Given the description of an element on the screen output the (x, y) to click on. 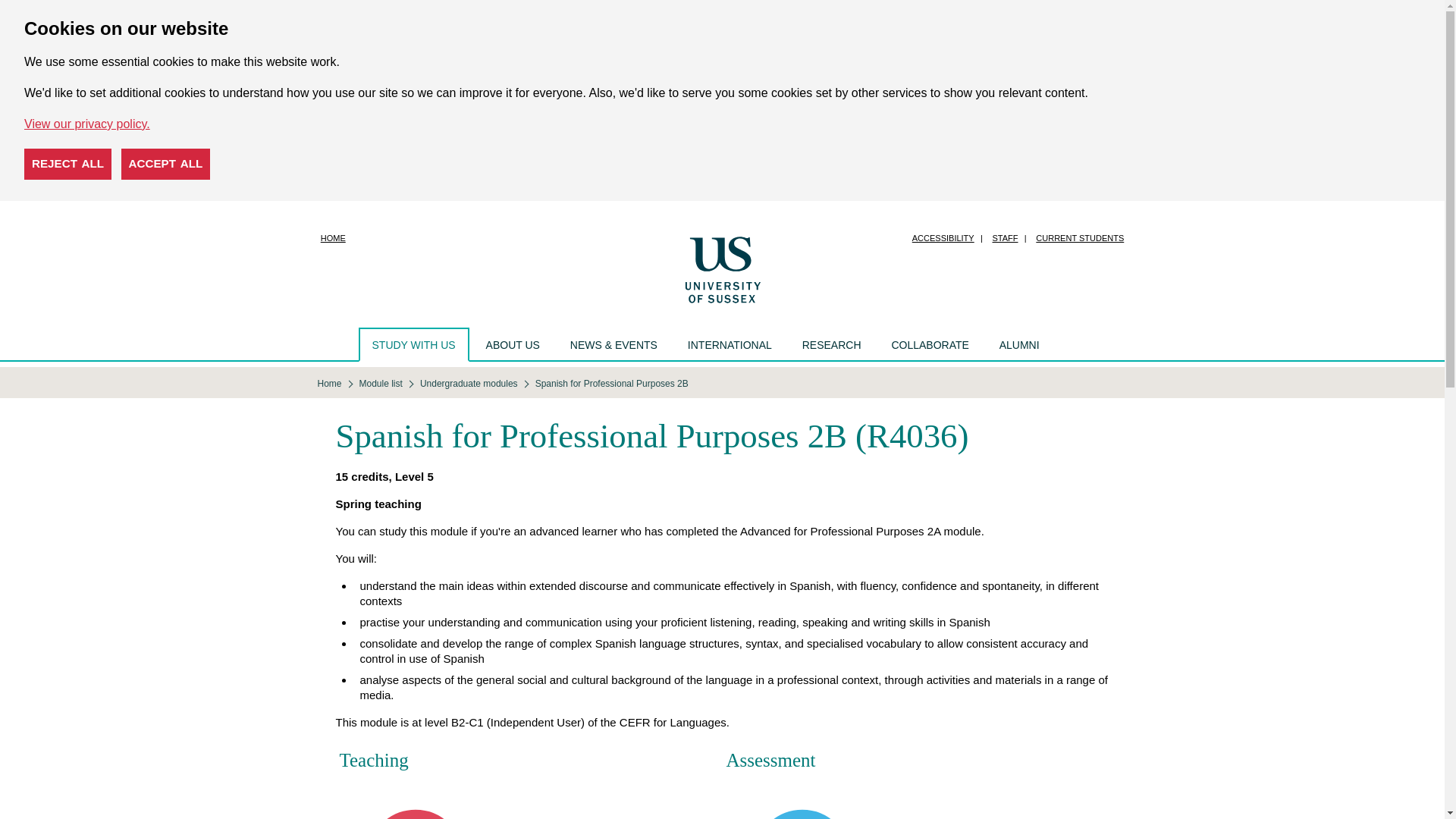
Search (1070, 343)
HOME (333, 238)
CURRENT STUDENTS (1079, 238)
View our privacy policy. (86, 123)
University of Sussex (722, 268)
STUDY WITH US (413, 344)
REJECT ALL (68, 163)
STAFF (1005, 238)
ACCEPT ALL (165, 163)
ACCESSIBILITY (942, 238)
